Given the description of an element on the screen output the (x, y) to click on. 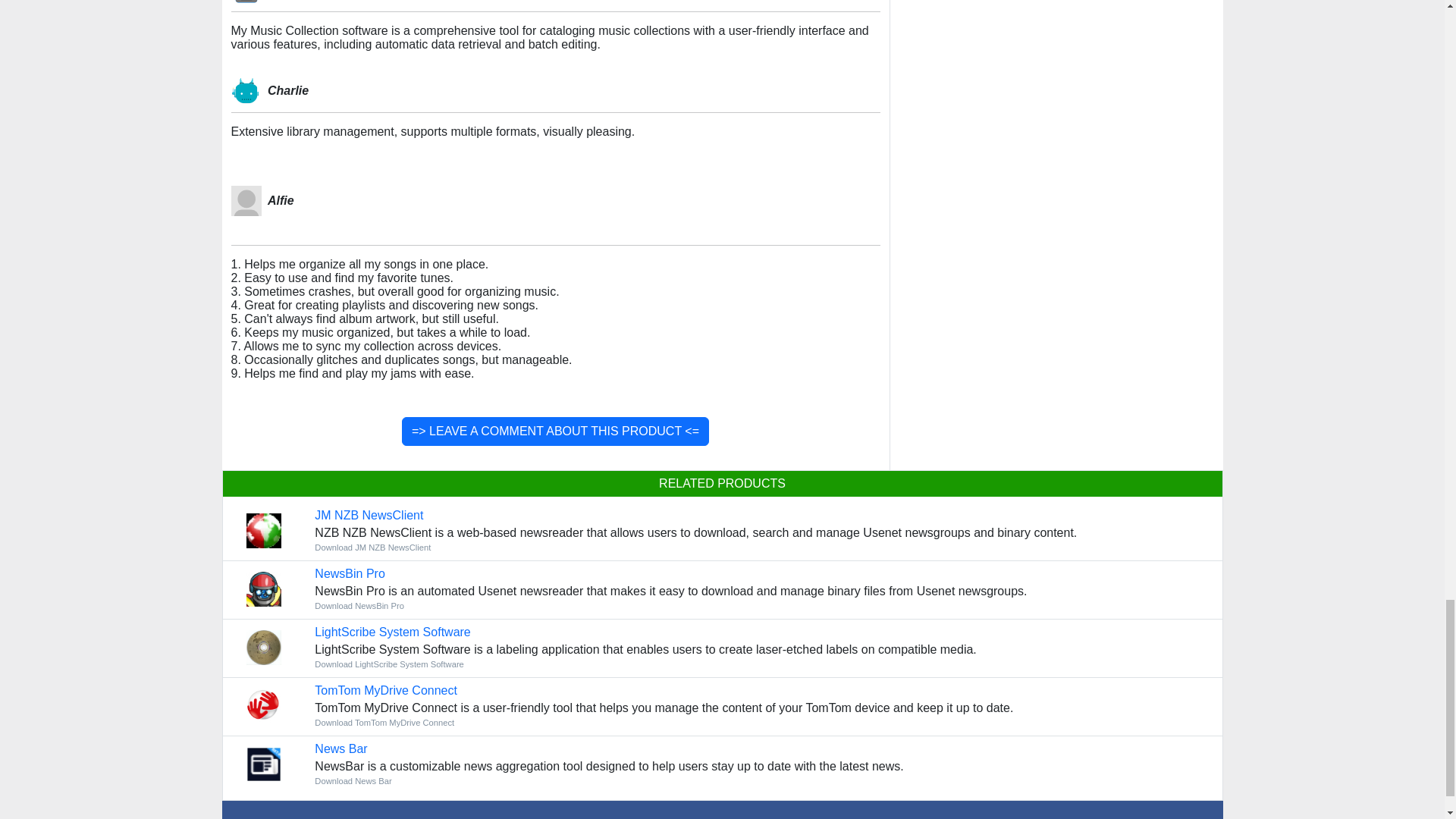
LightScribe System Software (392, 631)
News Bar (340, 748)
Download LightScribe System Software (392, 631)
Download LightScribe System Software (389, 664)
JM NZB NewsClient (368, 514)
Download News Bar (352, 780)
Download TomTom MyDrive Connect (384, 722)
Download JM NZB NewsClient (372, 547)
NewsBin Pro (349, 573)
Download News Bar (340, 748)
